Given the description of an element on the screen output the (x, y) to click on. 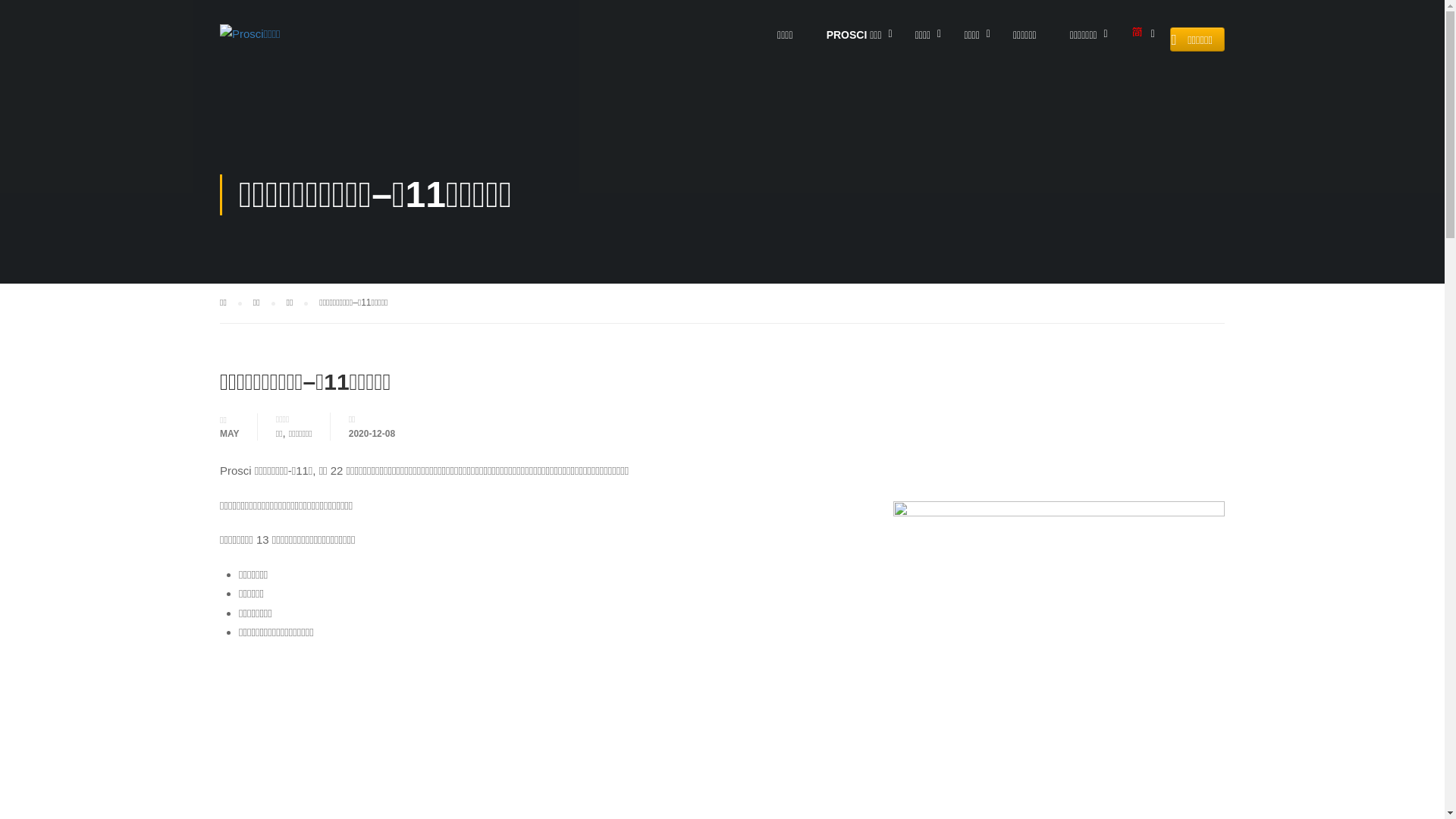
MAY Element type: text (229, 432)
